Given the description of an element on the screen output the (x, y) to click on. 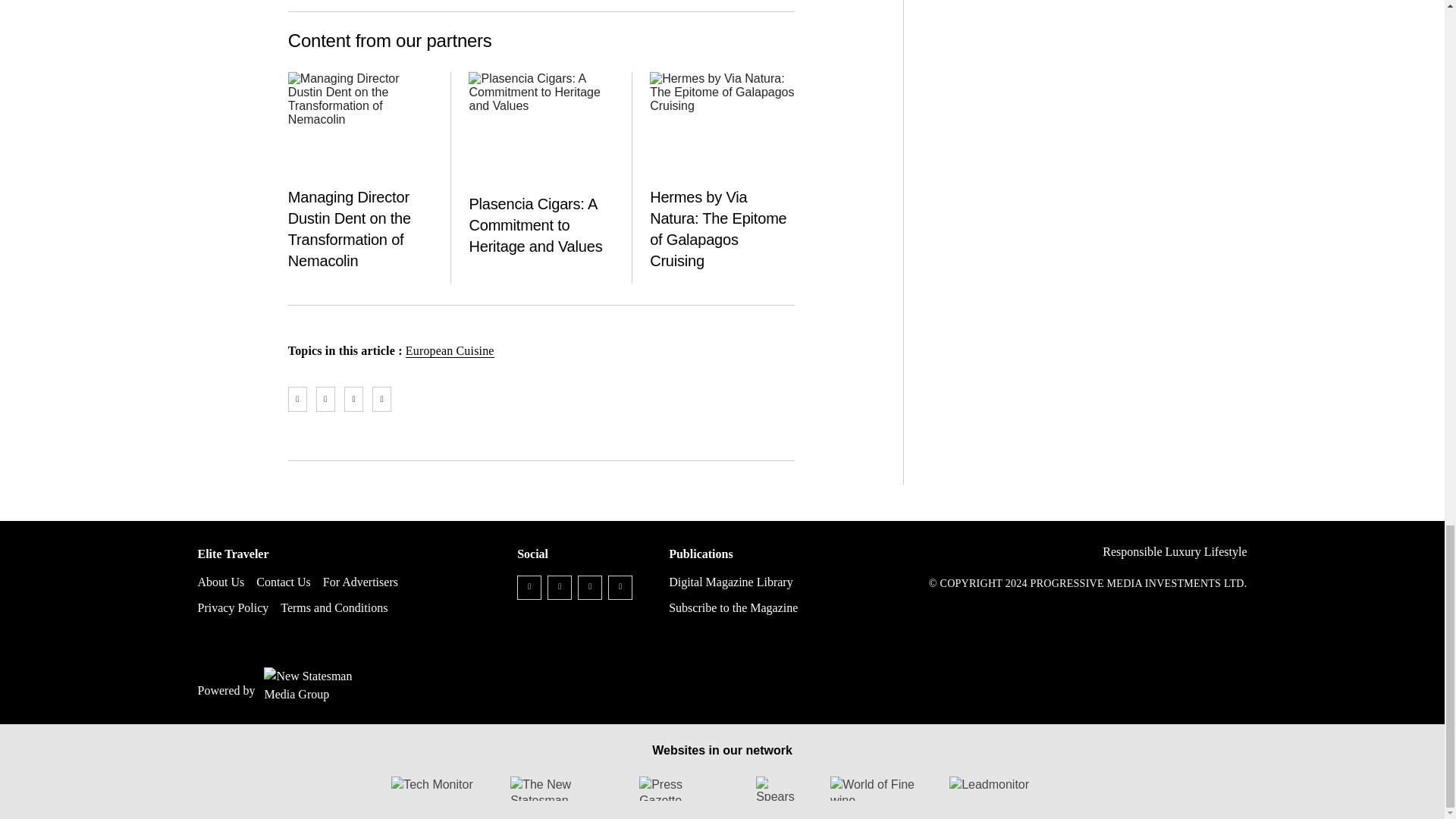
Plasencia Cigars: A Commitment to Heritage and Values (540, 126)
Follow us on Twitter (559, 587)
Hermes by Via Natura: The Epitome of Galapagos Cruising (721, 126)
Follow us on Facebook (528, 587)
